Given the description of an element on the screen output the (x, y) to click on. 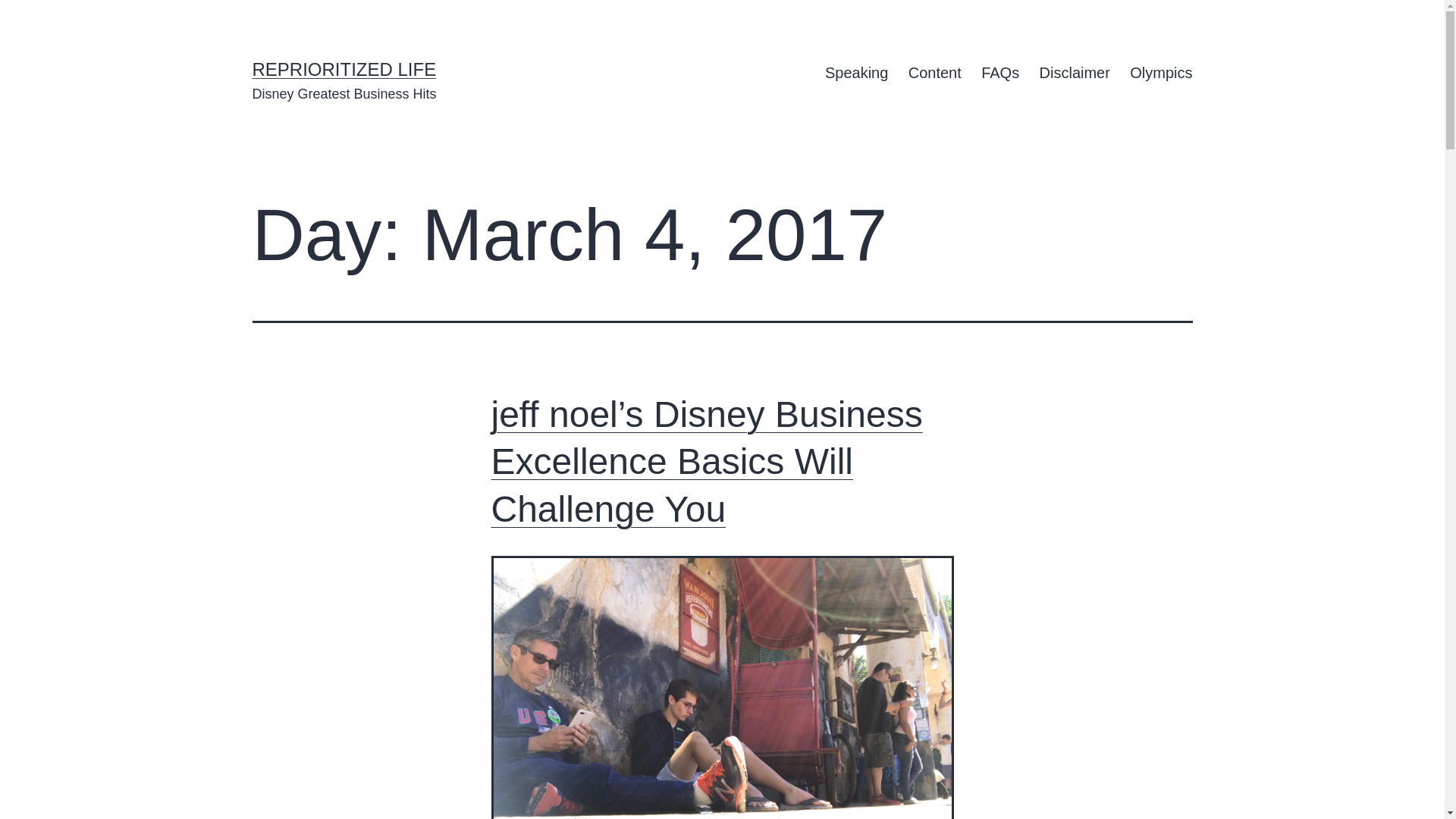
Content (934, 72)
Olympics (1160, 72)
Disclaimer (1074, 72)
REPRIORITIZED LIFE (343, 68)
Speaking (856, 72)
FAQs (1000, 72)
